Given the description of an element on the screen output the (x, y) to click on. 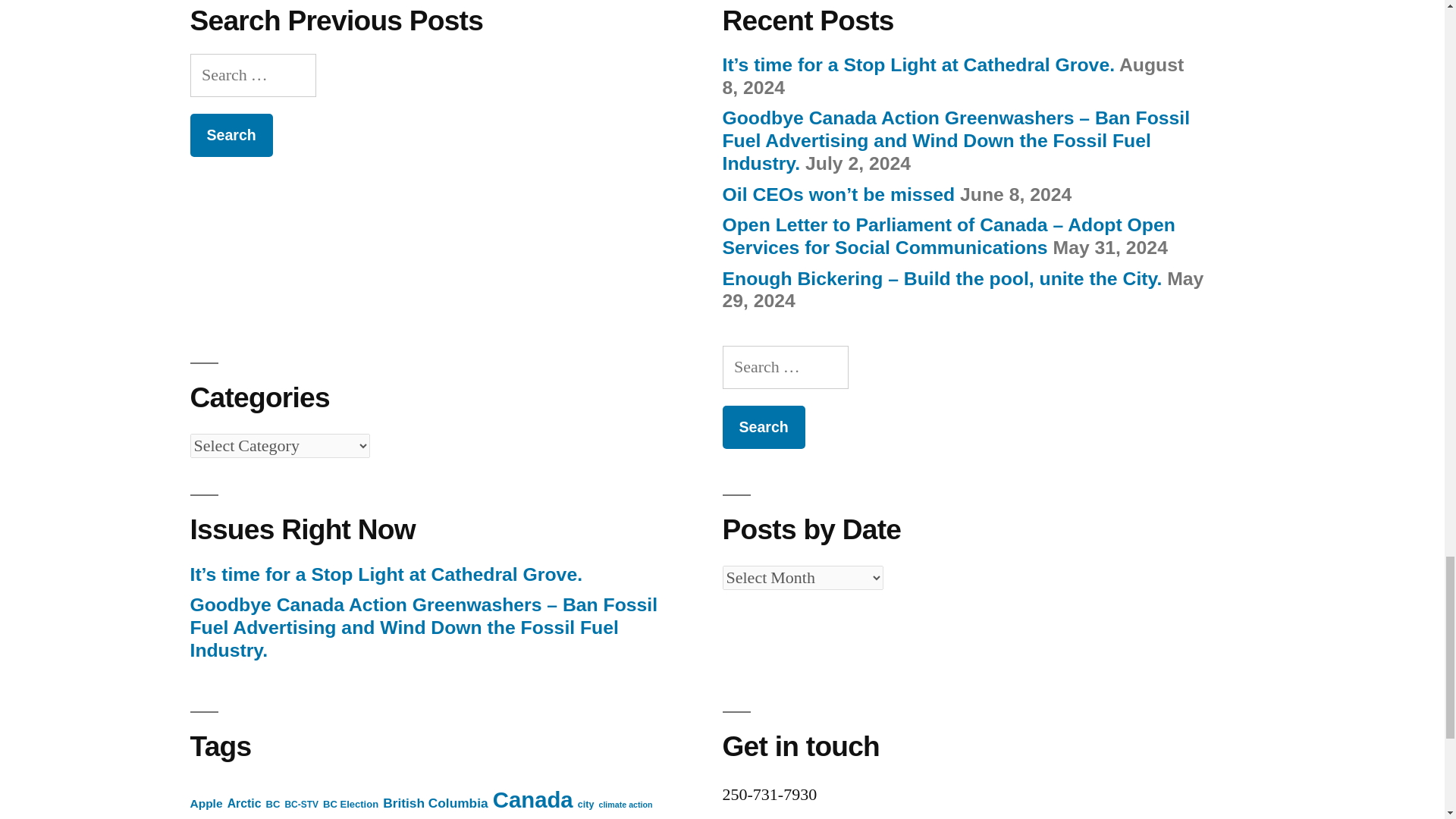
Search (230, 135)
Search (763, 426)
Search (230, 135)
Search (763, 426)
